Given the description of an element on the screen output the (x, y) to click on. 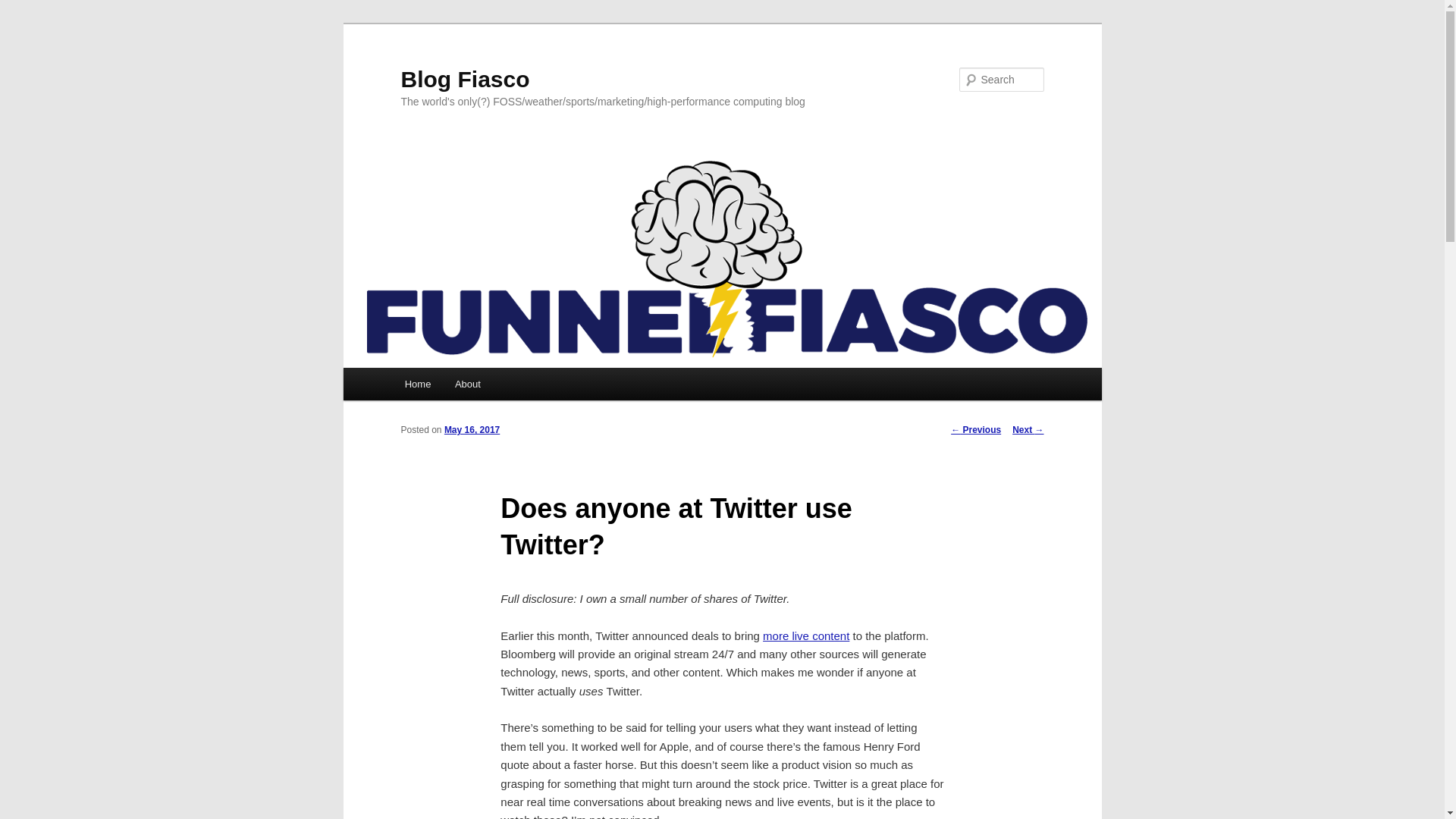
About (467, 383)
Home (417, 383)
Search (24, 8)
May 16, 2017 (471, 429)
7:13 am (471, 429)
Blog Fiasco (464, 78)
more live content (805, 635)
